Given the description of an element on the screen output the (x, y) to click on. 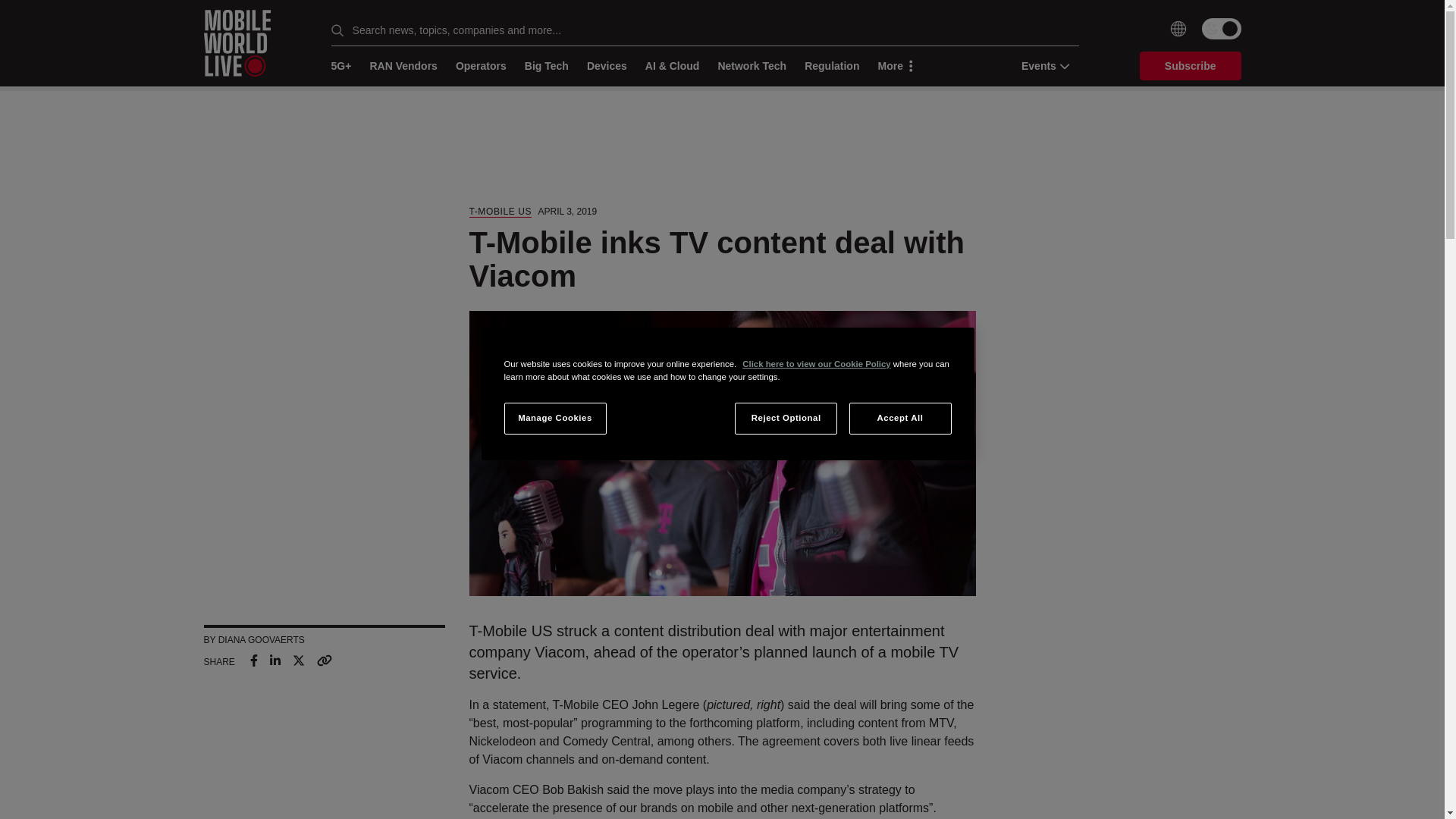
Big Tech (546, 65)
Subscribe (1190, 65)
Network Tech (751, 65)
Regulation (832, 65)
Events (1040, 65)
Devices (606, 65)
RAN Vendors (402, 65)
Operators (480, 65)
